Given the description of an element on the screen output the (x, y) to click on. 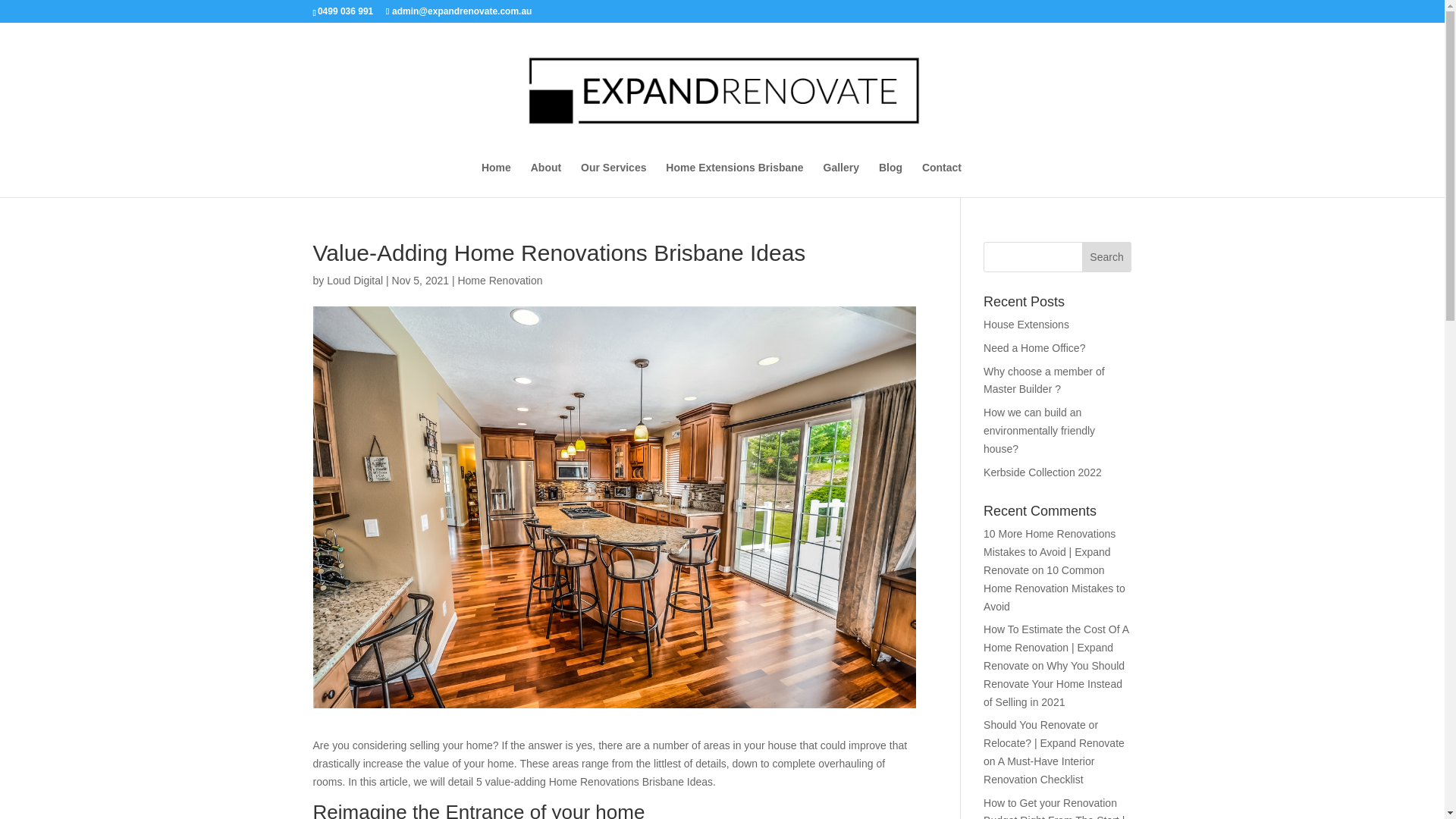
A Must-Have Interior Renovation Checklist (1039, 770)
Gallery (841, 179)
Kerbside Collection 2022 (1043, 472)
Posts by Loud Digital (354, 280)
Search (1106, 256)
Our Services (613, 179)
Home Extensions Brisbane (734, 179)
10 Common Home Renovation Mistakes to Avoid (1054, 588)
Why choose a member of Master Builder ? (1044, 380)
How we can build an environmentally friendly house? (1039, 430)
Contact (940, 179)
Why You Should Renovate Your Home Instead of Selling in 2021 (1054, 684)
House Extensions (1026, 324)
Search (1106, 256)
Home Renovation (499, 280)
